Given the description of an element on the screen output the (x, y) to click on. 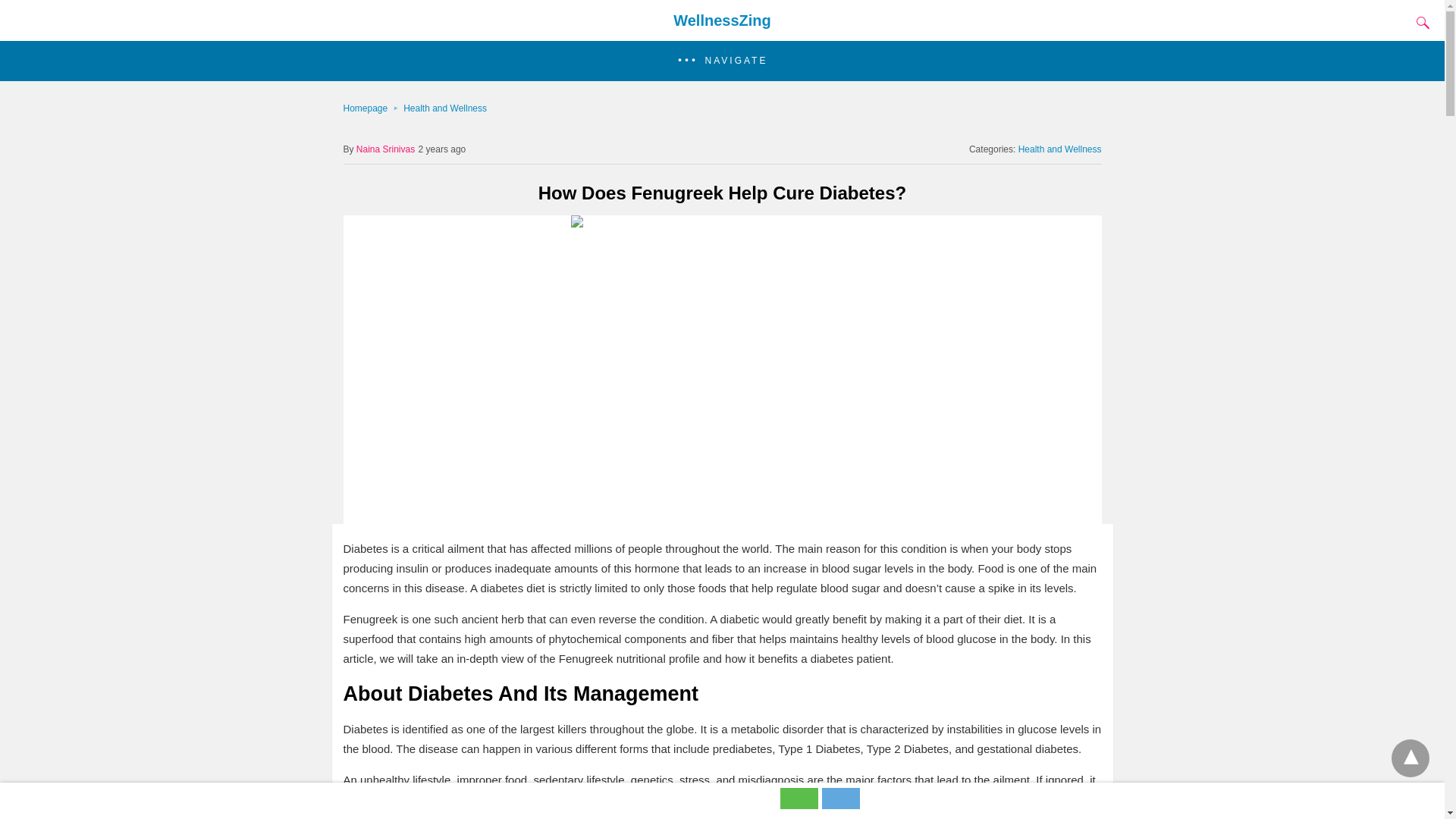
Homepage (372, 108)
Health and Wellness (444, 108)
Health and Wellness (1059, 149)
whatsapp share (800, 804)
Homepage (372, 108)
WellnessZing (722, 20)
telegram share (841, 804)
back to top (1410, 758)
Health and Wellness (444, 108)
